Given the description of an element on the screen output the (x, y) to click on. 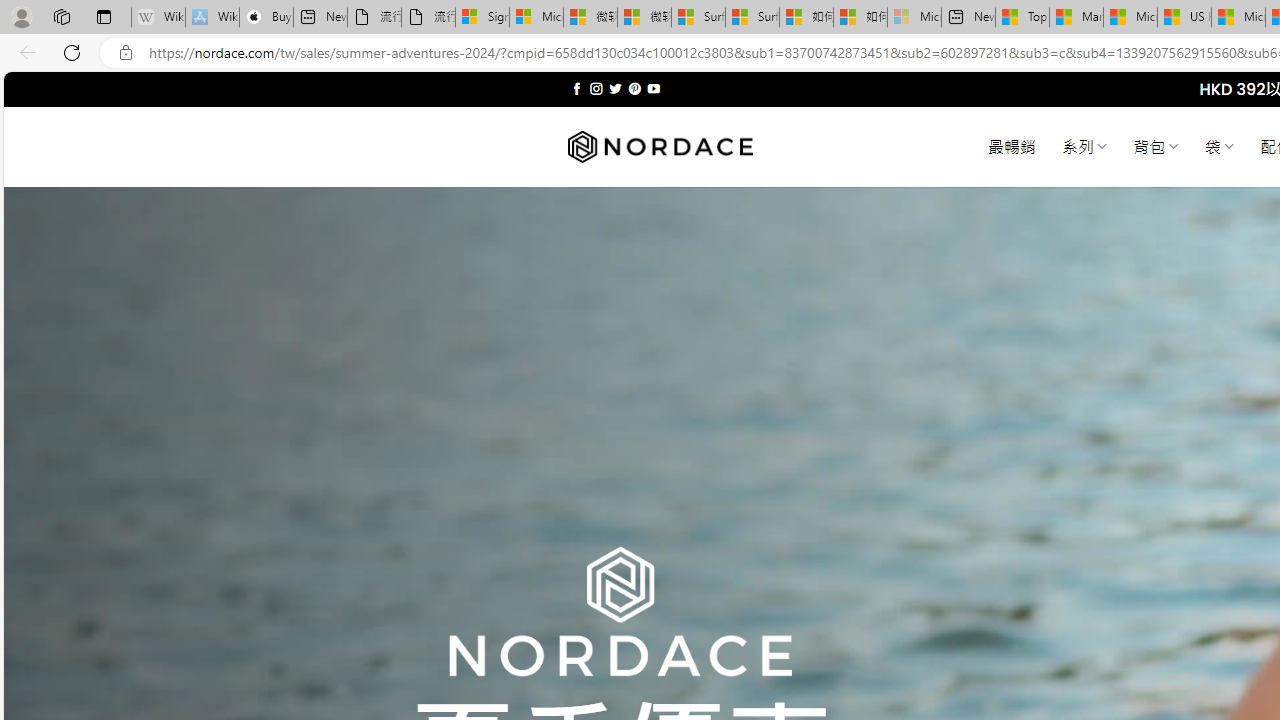
Follow on Facebook (576, 88)
Buy iPad - Apple (266, 17)
Follow on Instagram (596, 88)
